Given the description of an element on the screen output the (x, y) to click on. 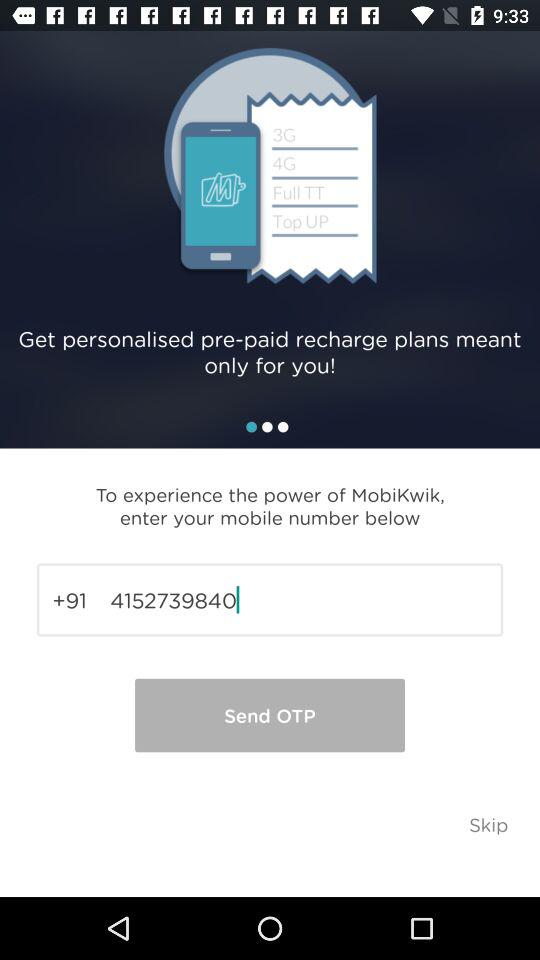
choose send otp icon (270, 715)
